Given the description of an element on the screen output the (x, y) to click on. 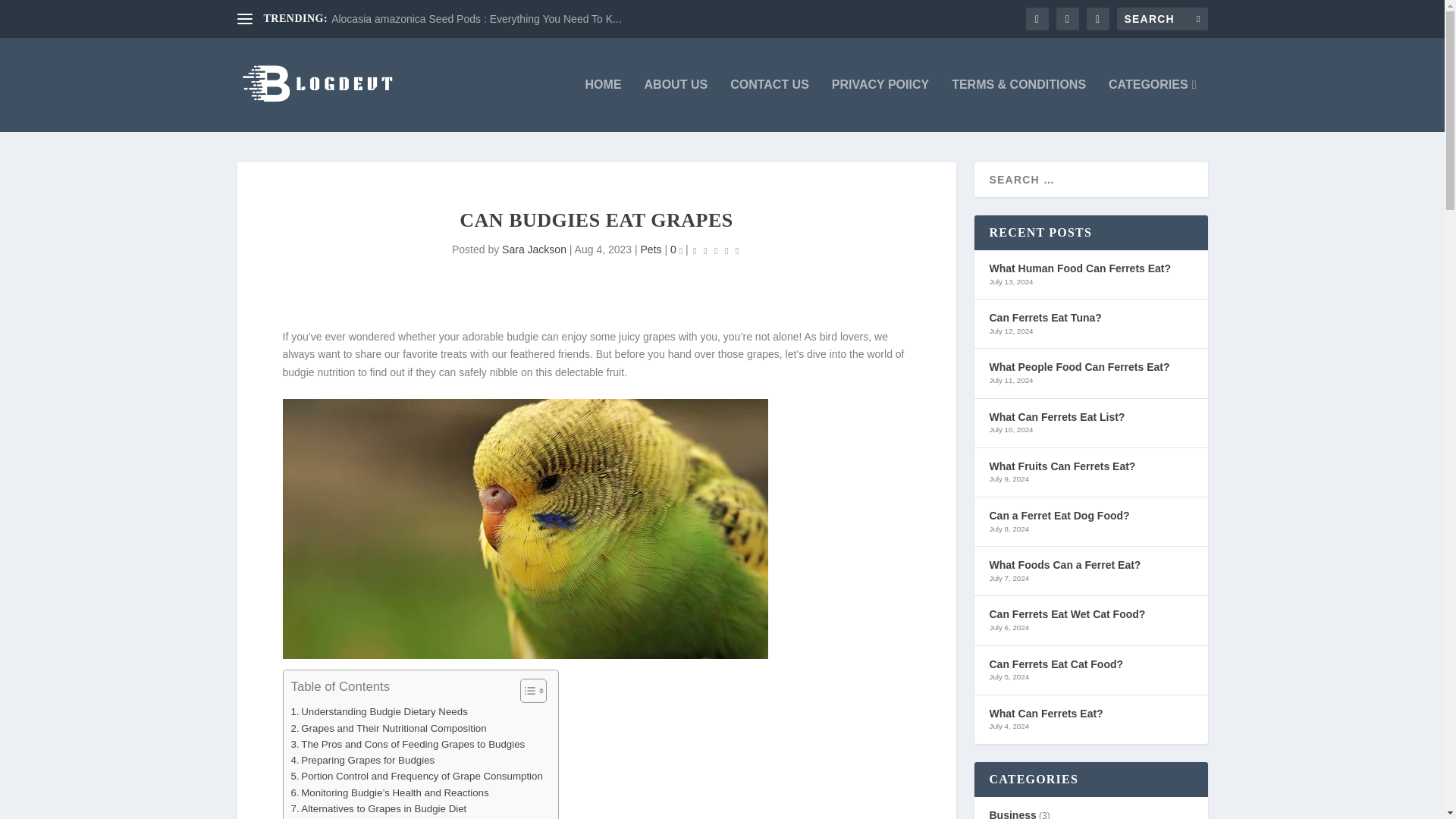
Grapes and Their Nutritional Composition (388, 728)
PRIVACY POIICY (879, 104)
ABOUT US (676, 104)
CATEGORIES (1151, 104)
Alocasia amazonica Seed Pods : Everything You Need To K... (476, 19)
Homemade Treats Using Grapes (369, 817)
Search for: (1161, 18)
Rating: 0.00 (715, 250)
The Pros and Cons of Feeding Grapes to Budgies (408, 744)
Posts by Sara Jackson (534, 249)
Alternatives to Grapes in Budgie Diet (379, 808)
CONTACT US (769, 104)
Preparing Grapes for Budgies (363, 760)
Portion Control and Frequency of Grape Consumption (417, 775)
Understanding Budgie Dietary Needs (379, 711)
